Given the description of an element on the screen output the (x, y) to click on. 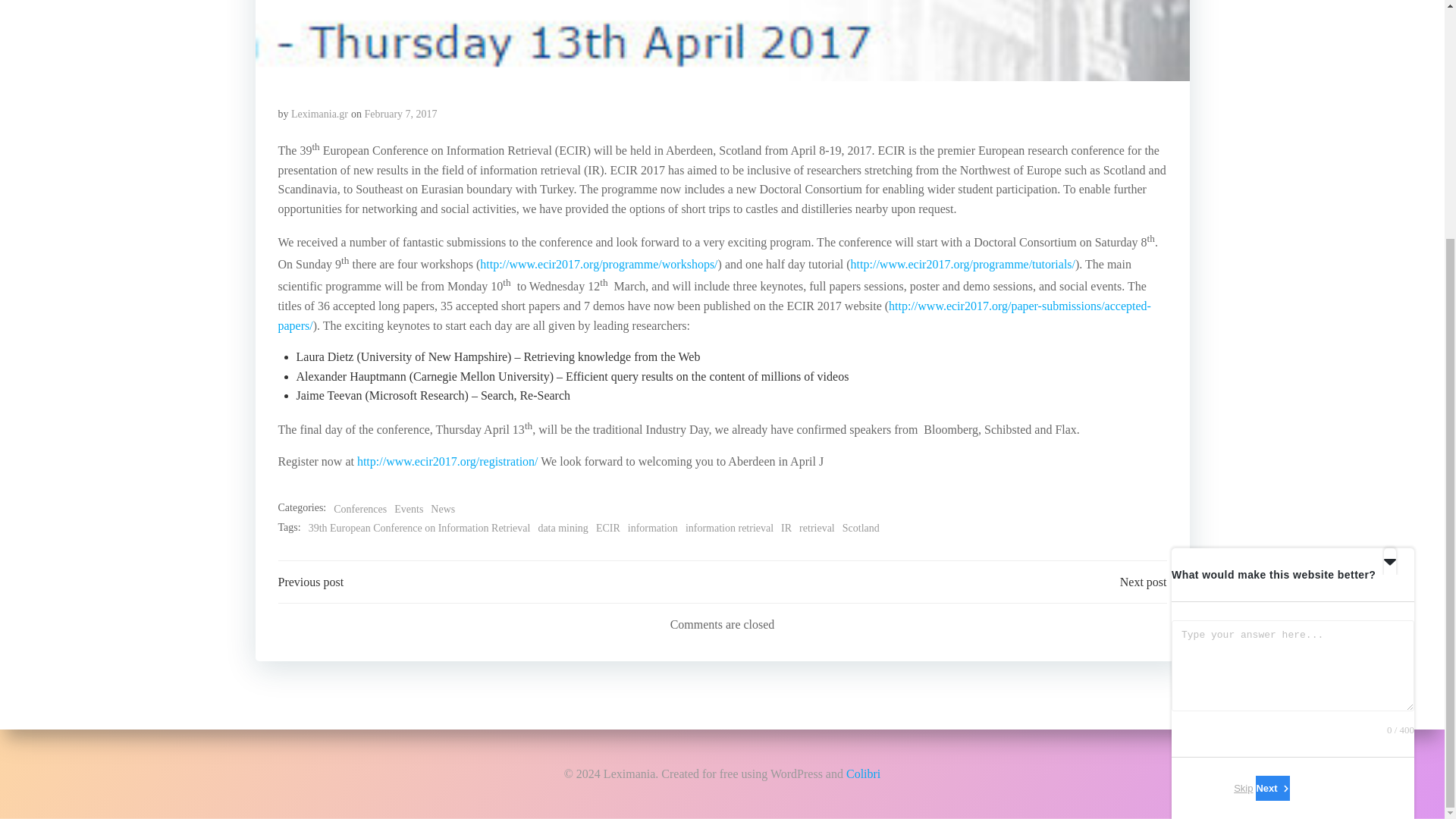
information retrieval Tag (729, 528)
39th European Conference on Information Retrieval Tag (419, 528)
ECIR (607, 528)
Scotland (861, 528)
Conferences (360, 509)
Scotland Tag (861, 528)
information retrieval (729, 528)
February 7, 2017 (401, 113)
News (442, 509)
Colibri (862, 445)
